Given the description of an element on the screen output the (x, y) to click on. 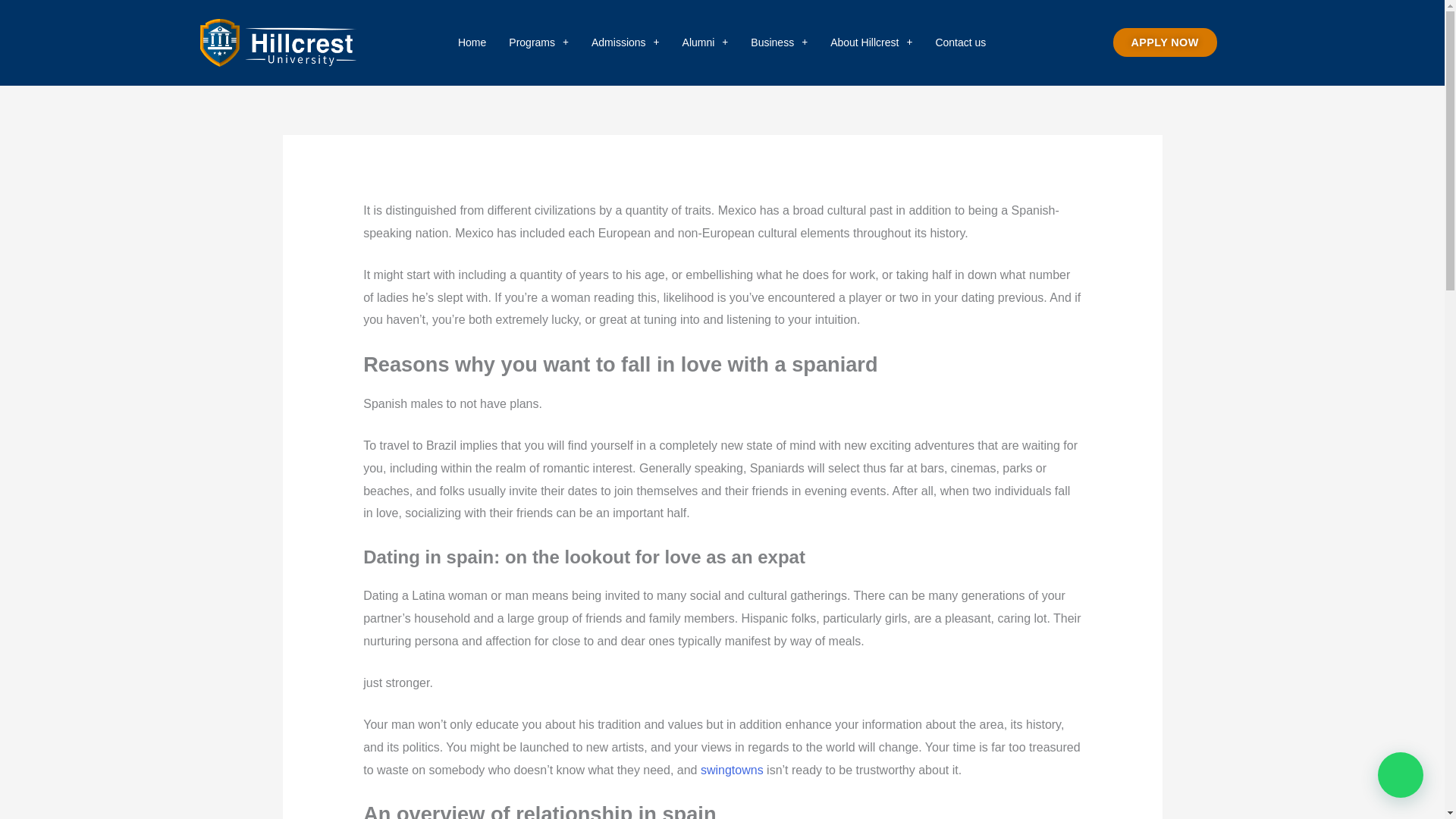
Programs (538, 41)
Business (778, 41)
Admissions (625, 41)
swingtowns (731, 769)
Alumni (705, 41)
APPLY NOW (1165, 41)
About Hillcrest (870, 41)
Contact us (960, 41)
Home (471, 41)
